Given the description of an element on the screen output the (x, y) to click on. 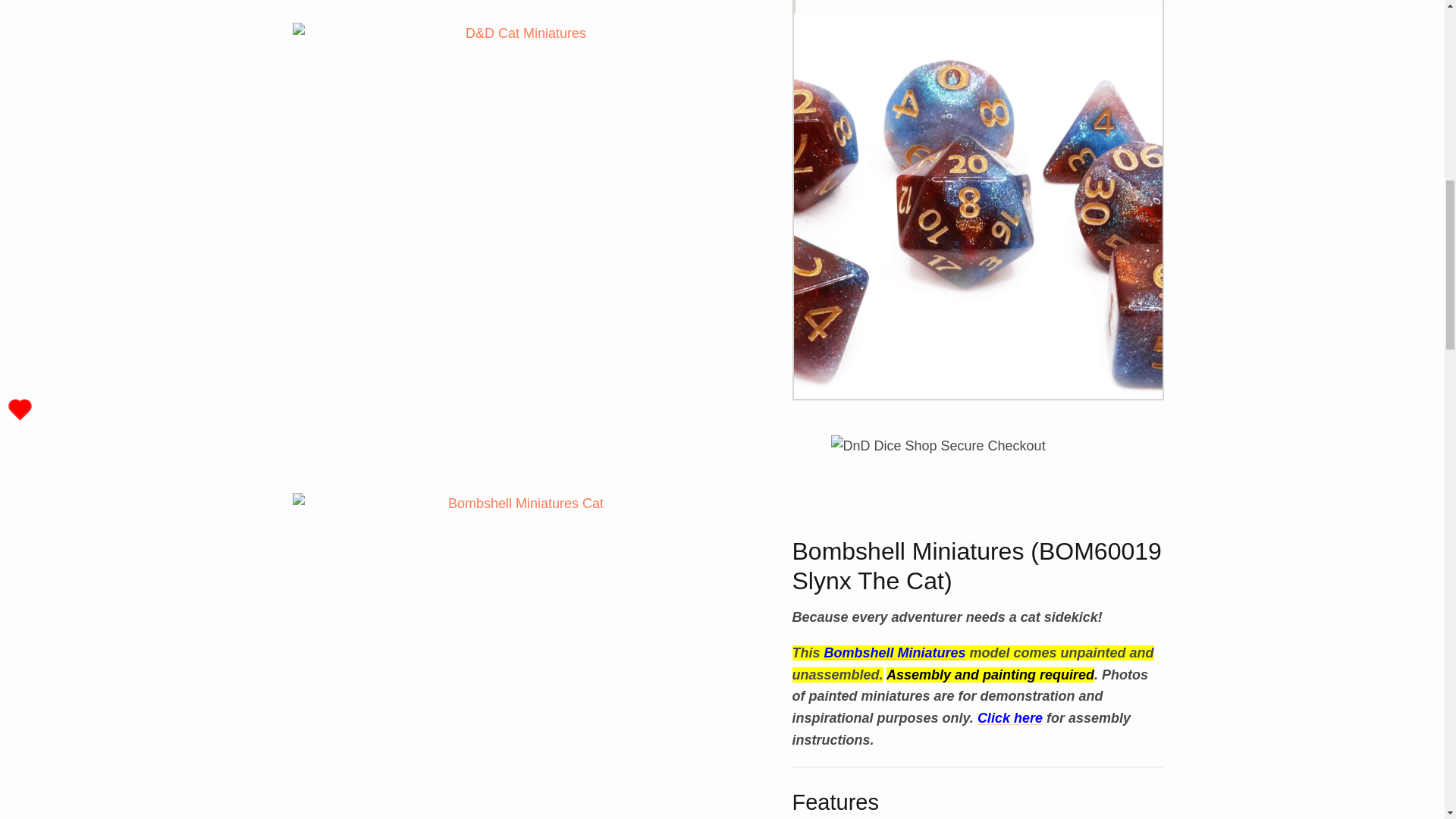
Bombshell Miniatures (895, 637)
